Given the description of an element on the screen output the (x, y) to click on. 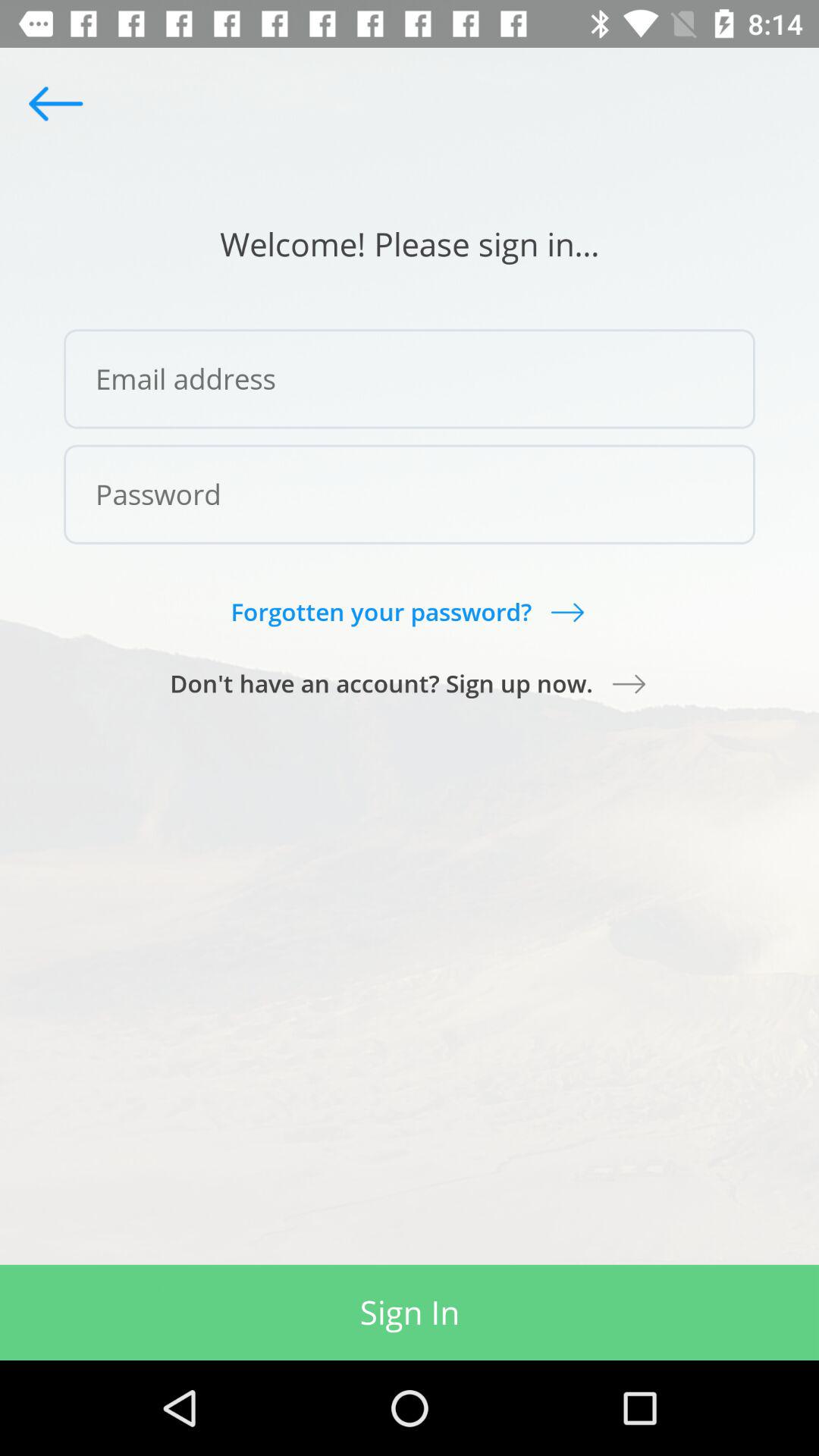
enter email address (409, 378)
